Given the description of an element on the screen output the (x, y) to click on. 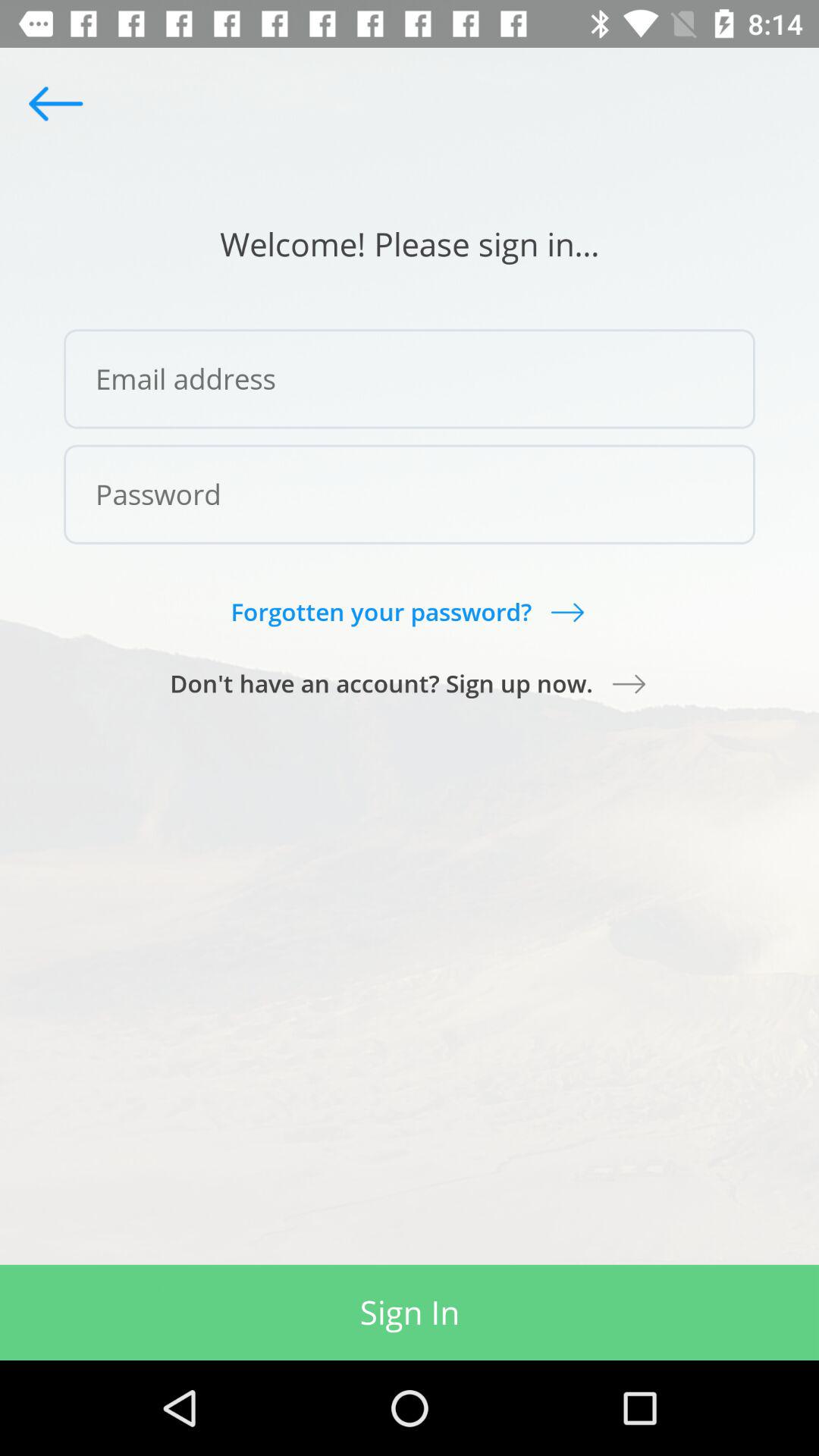
enter email address (409, 378)
